Given the description of an element on the screen output the (x, y) to click on. 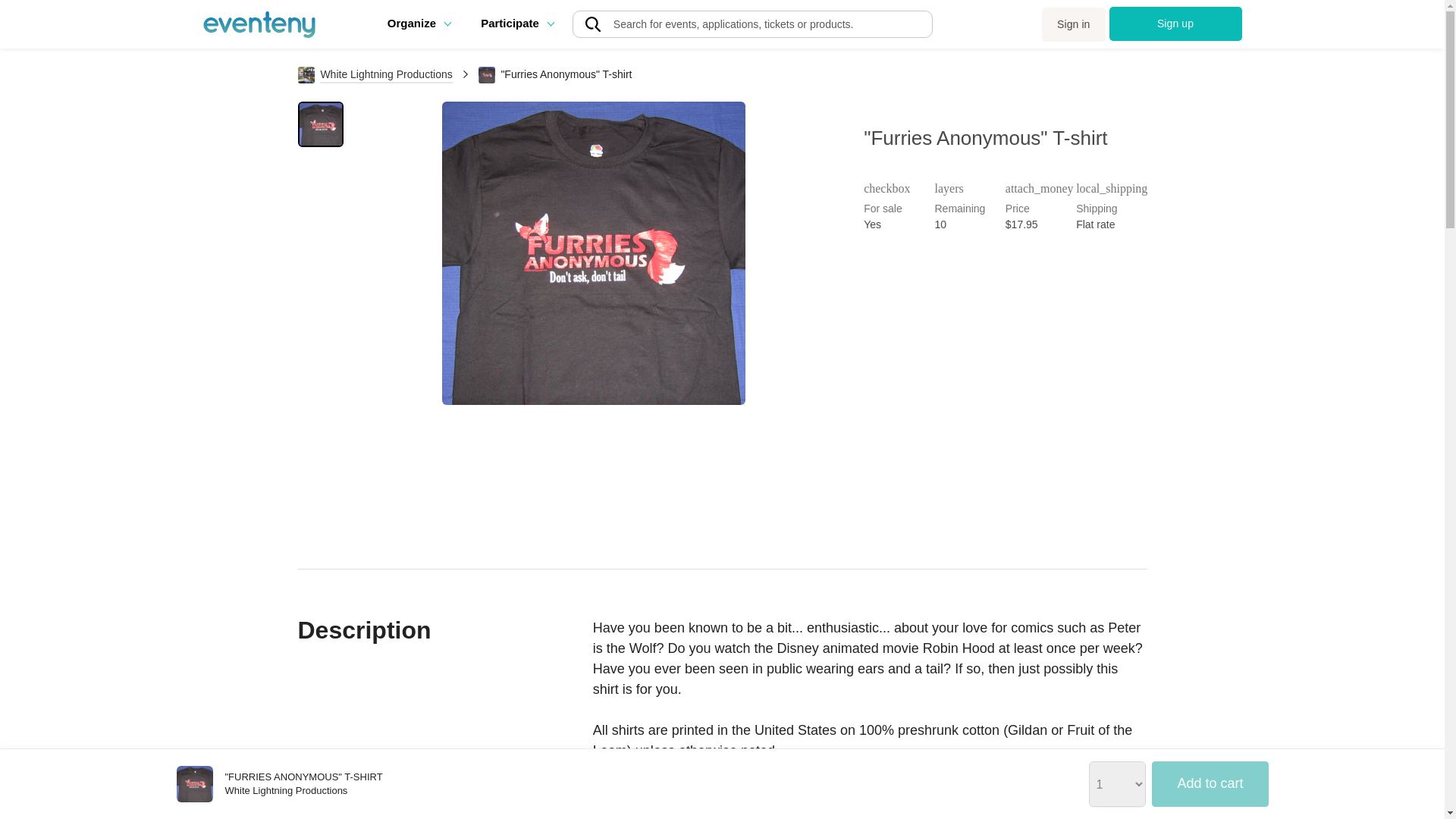
"Furries Anonymous" T-shirt (194, 783)
Participate (516, 22)
Organize (418, 22)
White Lightning Productions (375, 73)
Sign in (1073, 24)
Create events your way - Eventeny (259, 24)
